Given the description of an element on the screen output the (x, y) to click on. 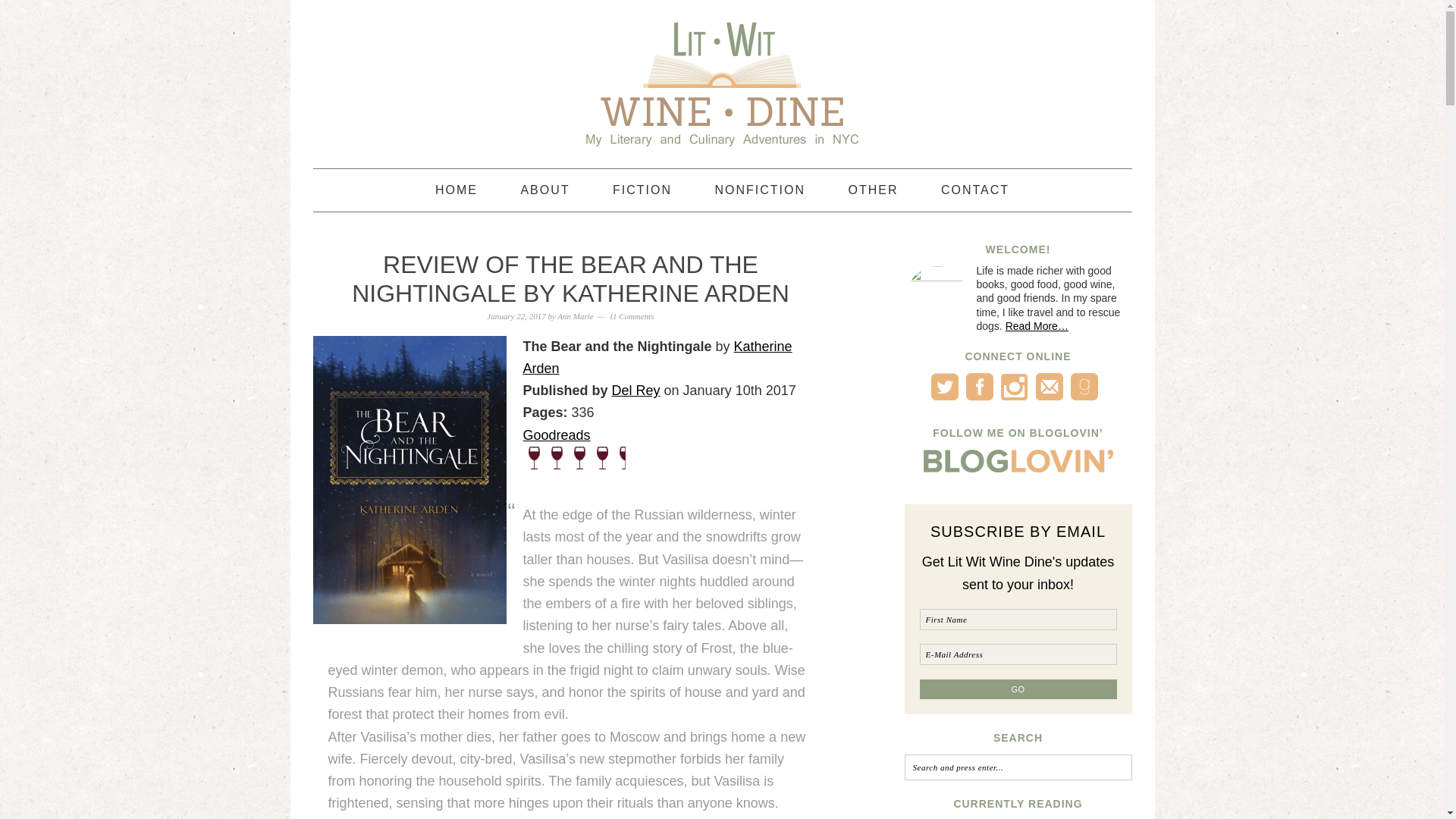
Go (1017, 689)
Del Rey (636, 390)
CONTACT (974, 189)
11 Comments (630, 316)
FICTION (642, 189)
Katherine Arden (657, 357)
NONFICTION (759, 189)
OTHER (872, 189)
Goodreads (556, 435)
Ann Marie (574, 316)
HOME (456, 189)
ABOUT (544, 189)
